Given the description of an element on the screen output the (x, y) to click on. 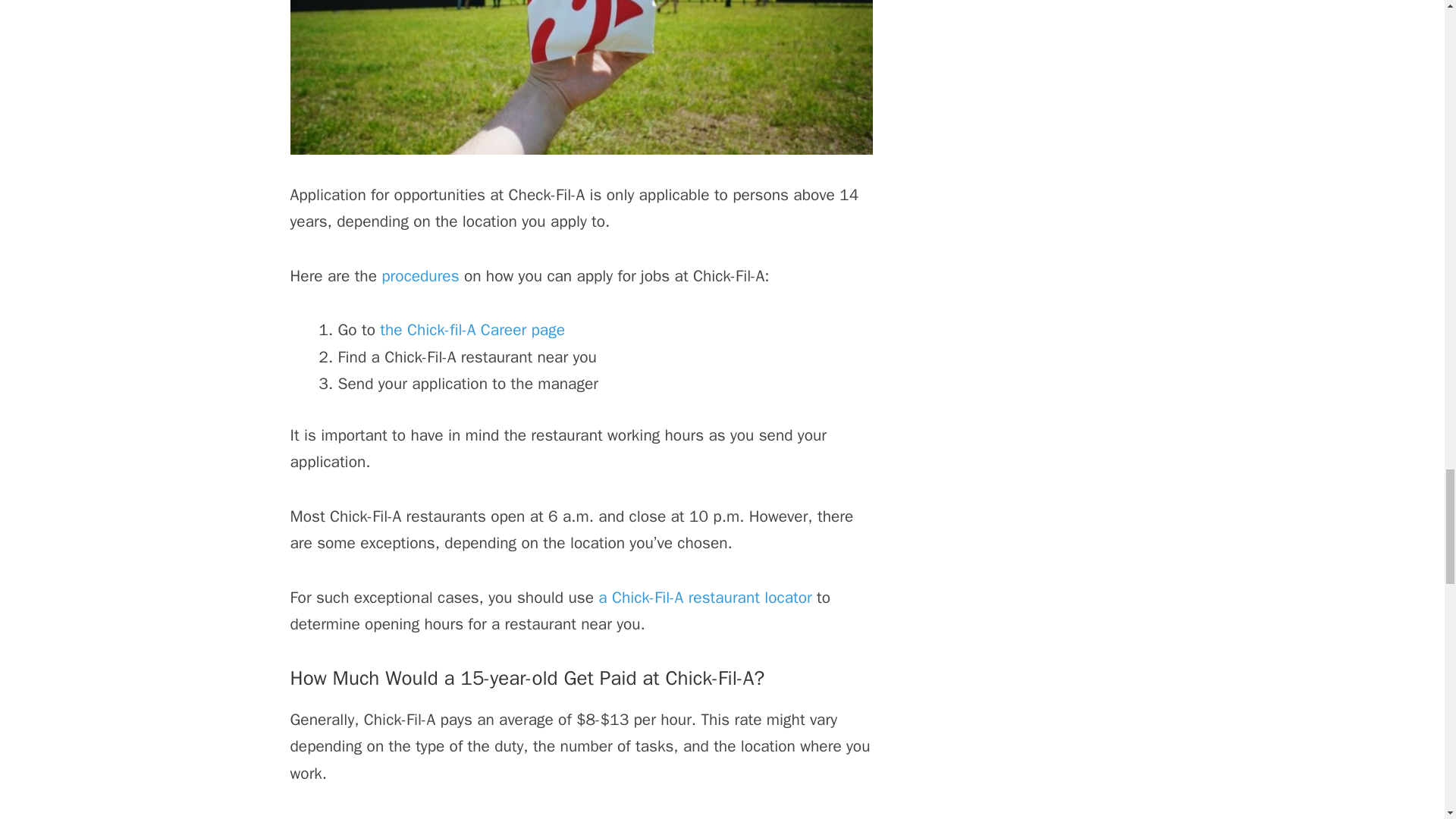
the Chick-fil-A Career page (472, 329)
a (602, 597)
procedures (419, 275)
Chick-Fil-A restaurant locator (711, 597)
